Given the description of an element on the screen output the (x, y) to click on. 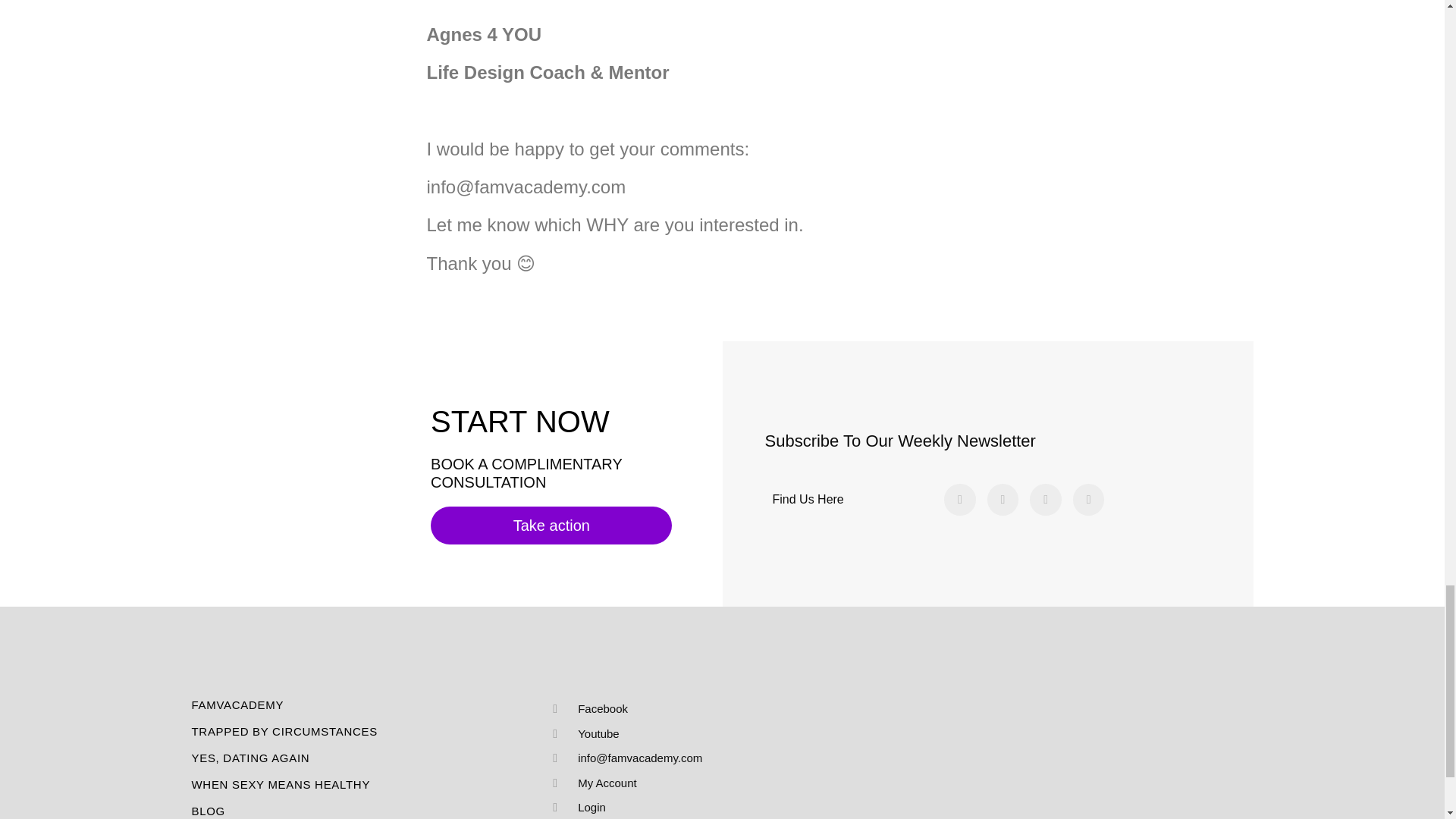
Youtube (715, 733)
YES, DATING AGAIN (367, 758)
TRAPPED BY CIRCUMSTANCES (367, 731)
Login (715, 807)
FAMVACADEMY (367, 704)
BLOG (367, 811)
Facebook (715, 709)
My Account (715, 783)
Take action (550, 525)
WHEN SEXY MEANS HEALTHY (367, 784)
